Given the description of an element on the screen output the (x, y) to click on. 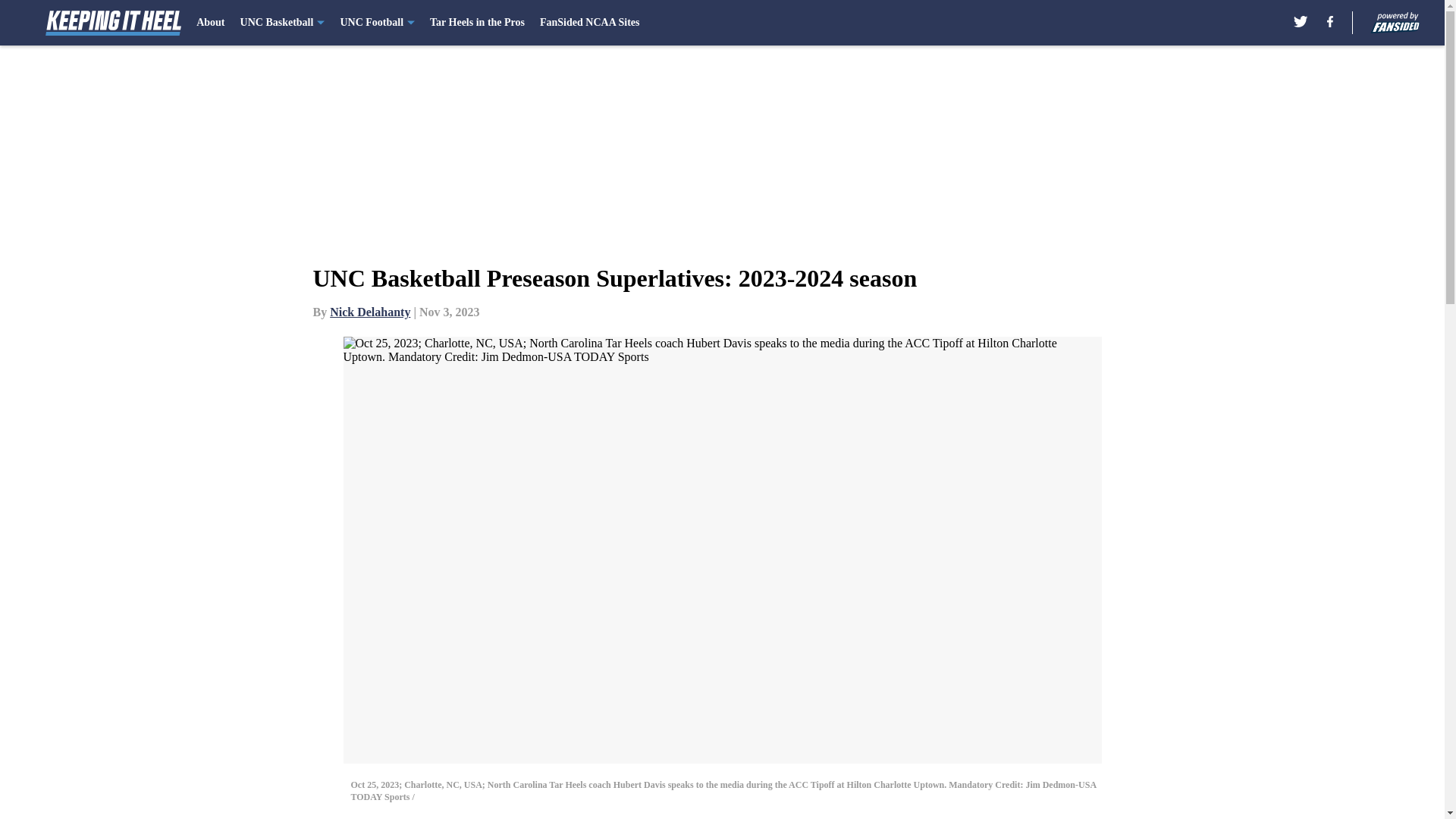
Tar Heels in the Pros (476, 22)
About (210, 22)
Nick Delahanty (370, 311)
FanSided NCAA Sites (589, 22)
